Given the description of an element on the screen output the (x, y) to click on. 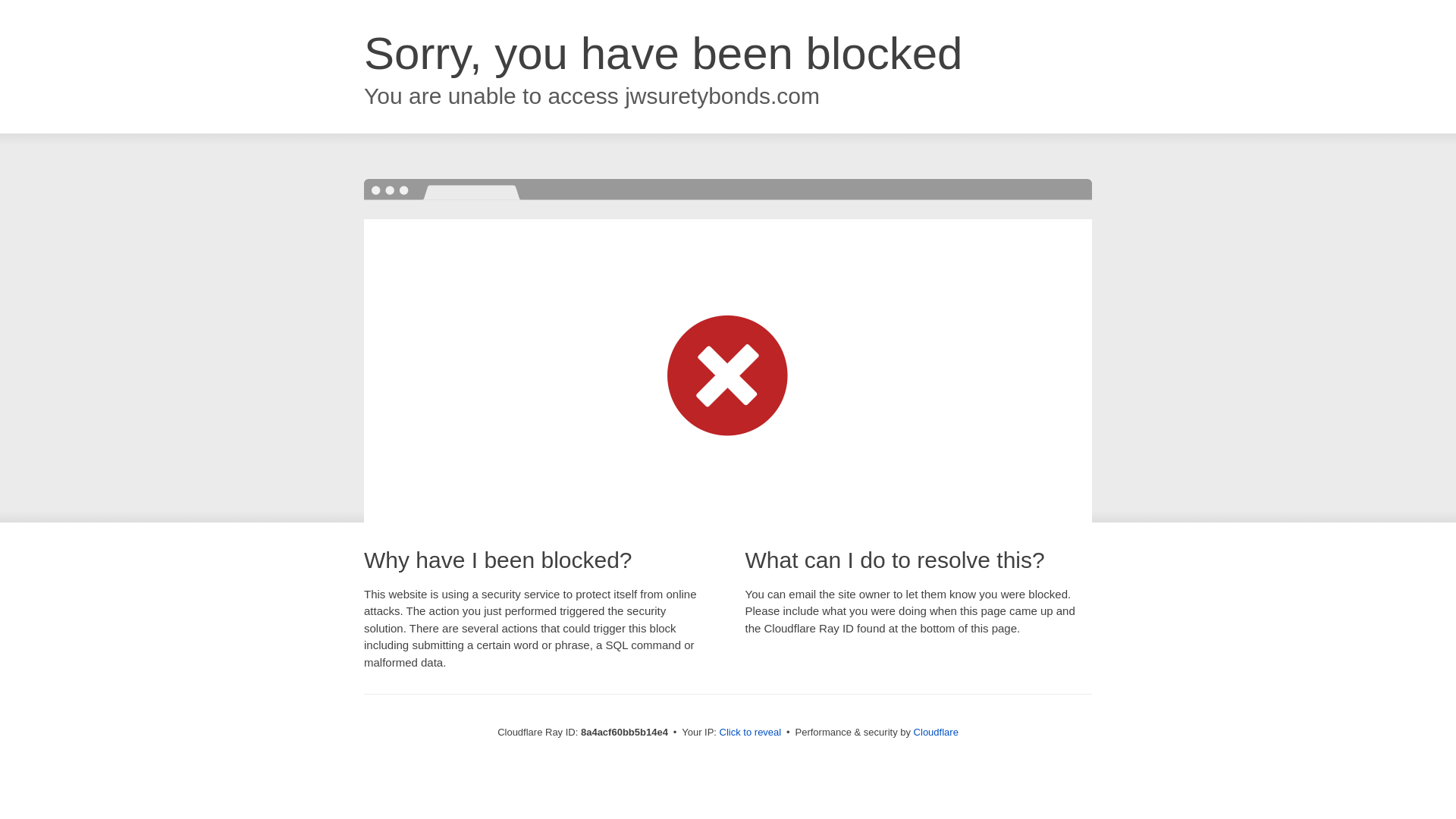
Click to reveal (750, 732)
Cloudflare (936, 731)
